Given the description of an element on the screen output the (x, y) to click on. 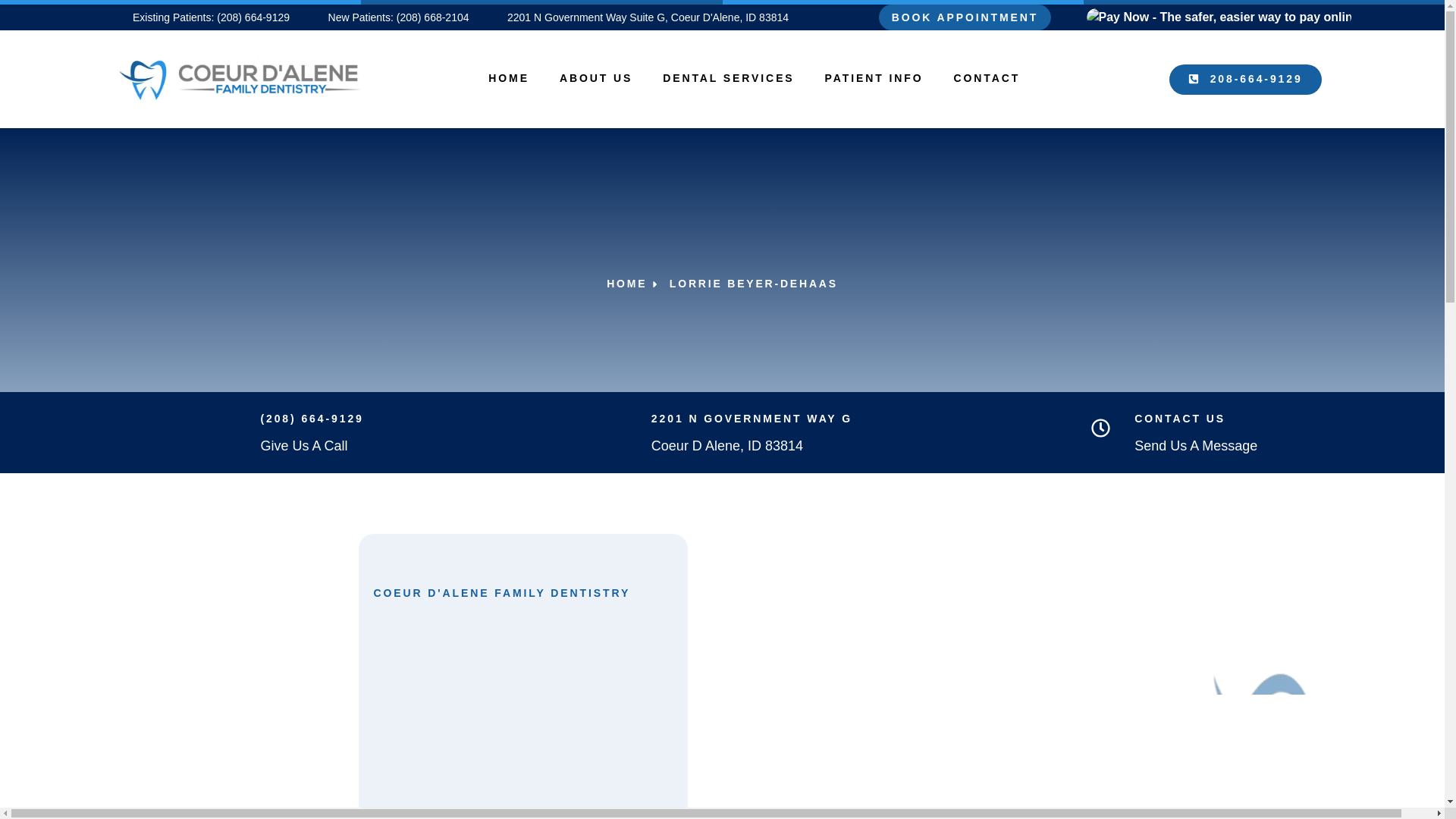
BOOK APPOINTMENT (965, 17)
HOME (508, 77)
2201 N Government Way Suite G, Coeur D'Alene, ID 83814 (639, 17)
DENTAL SERVICES (728, 77)
ABOUT US (595, 77)
CONTACT (987, 77)
PATIENT INFO (874, 77)
